Given the description of an element on the screen output the (x, y) to click on. 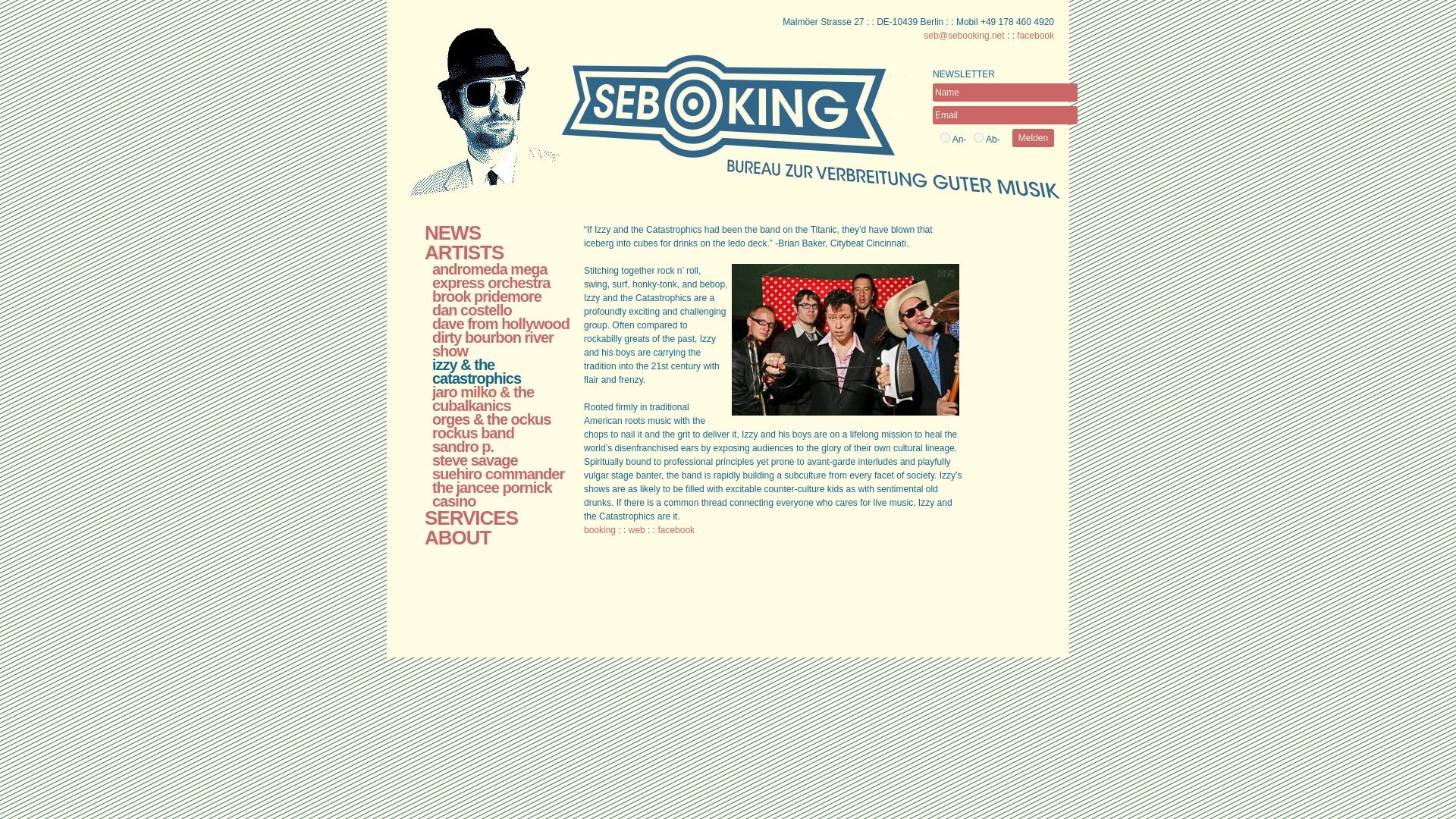
steve savage (475, 460)
Email (1005, 115)
NEWS (452, 232)
suehiro commander (498, 474)
web (636, 529)
Melden (1032, 137)
2 (979, 137)
dan costello (472, 310)
1 (945, 137)
SERVICES (471, 517)
